Given the description of an element on the screen output the (x, y) to click on. 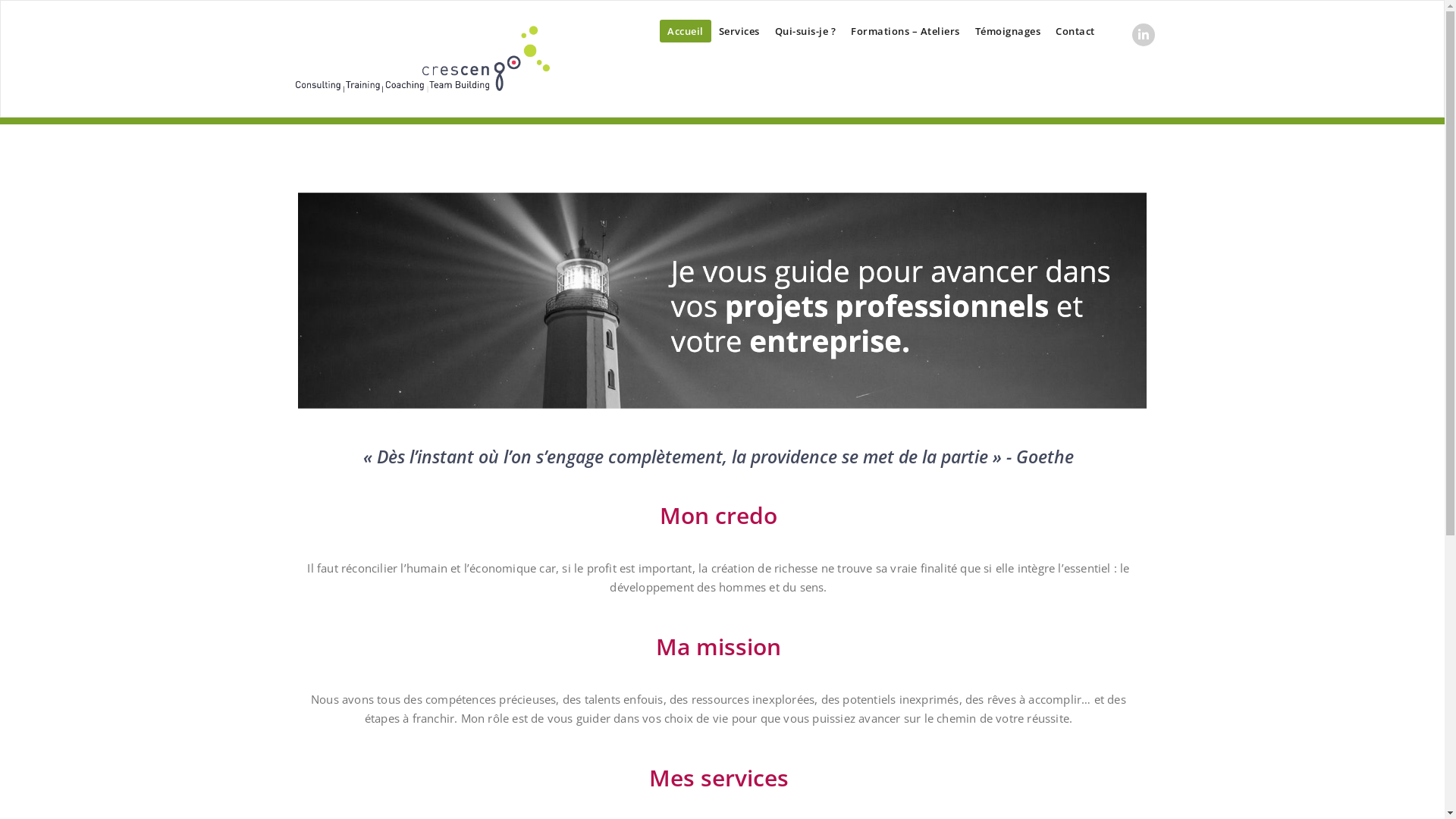
Accueil Element type: text (685, 30)
Services Element type: text (739, 30)
Qui-suis-je ? Element type: text (805, 30)
Appointment Element type: hover (422, 58)
Contact Element type: text (1075, 30)
